Given the description of an element on the screen output the (x, y) to click on. 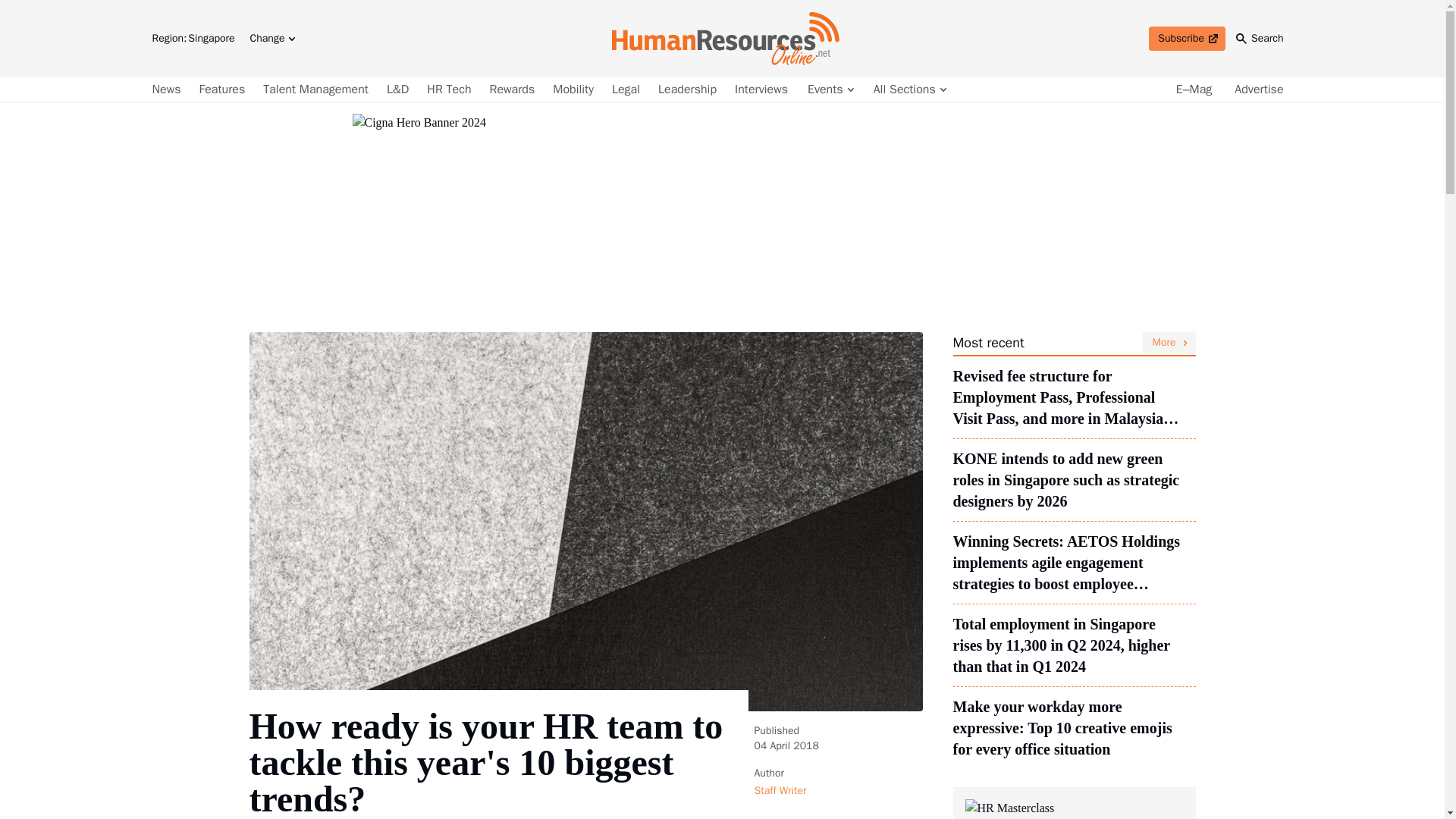
Interviews (761, 89)
Search (1260, 38)
Mobility (573, 89)
Legal (626, 89)
News (167, 89)
HR Tech (449, 89)
Features (1186, 38)
Events (222, 89)
Leadership (830, 89)
Cigna Hero Banner 2024 (686, 89)
Talent Management (908, 89)
Change (315, 89)
Rewards (271, 38)
